Given the description of an element on the screen output the (x, y) to click on. 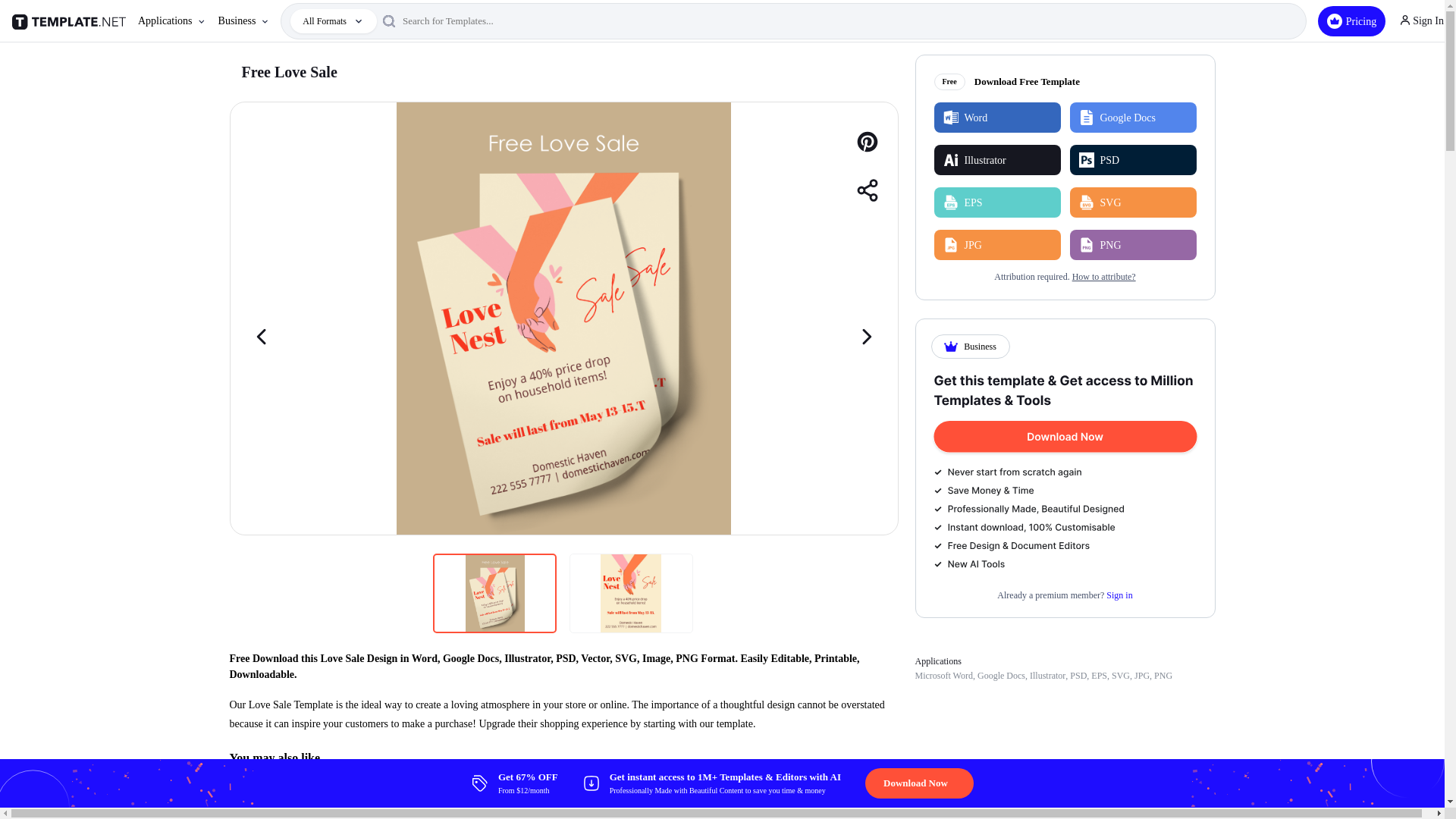
Template.net (71, 21)
